Given the description of an element on the screen output the (x, y) to click on. 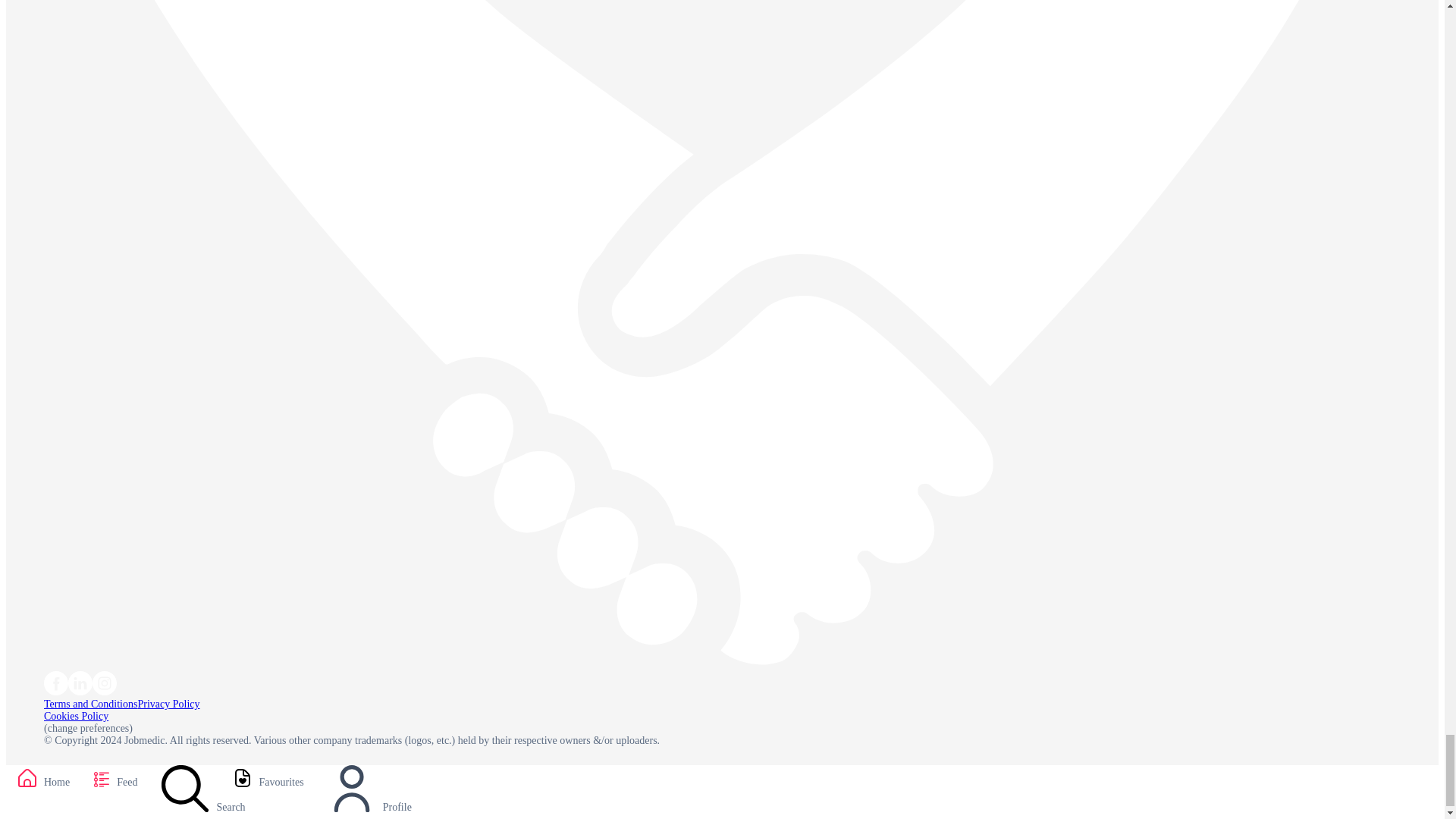
Terms and Conditions (89, 704)
Cookies Policy (75, 715)
Privacy Policy (167, 704)
